Given the description of an element on the screen output the (x, y) to click on. 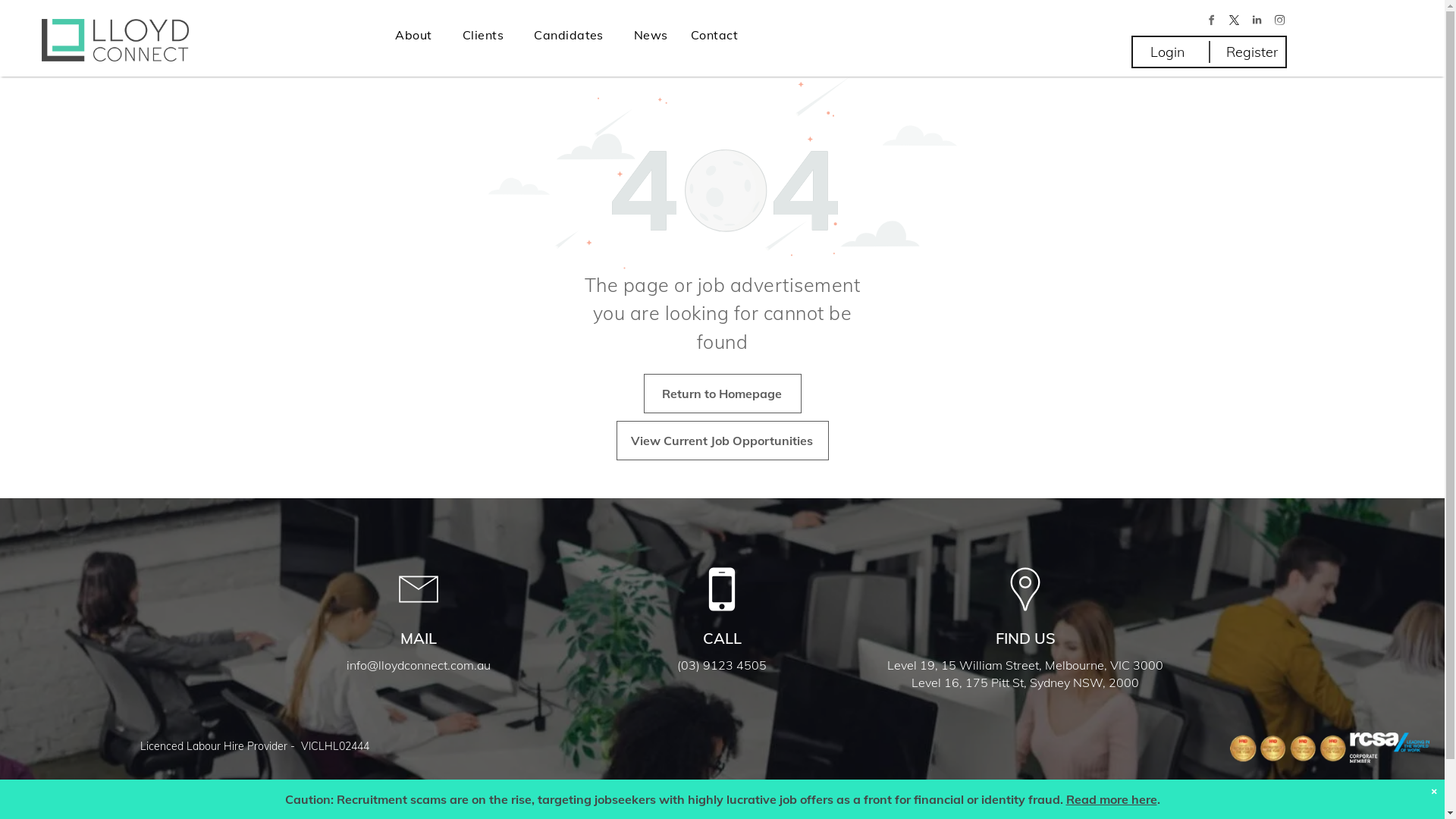
View Current Job Opportunities Element type: text (721, 440)
News Element type: text (650, 34)
Register Element type: text (1251, 51)
Candidates Element type: text (572, 34)
Proudly Supporting Element type: text (60, 800)
Lloyd Connect Element type: hover (114, 39)
Read more here Element type: text (1111, 798)
info@lloydconnect.com.au Element type: text (418, 664)
Contact Element type: text (714, 34)
Clients Element type: text (486, 34)
Login Element type: text (1166, 51)
Return to Homepage Element type: text (721, 393)
About Element type: text (416, 34)
